Given the description of an element on the screen output the (x, y) to click on. 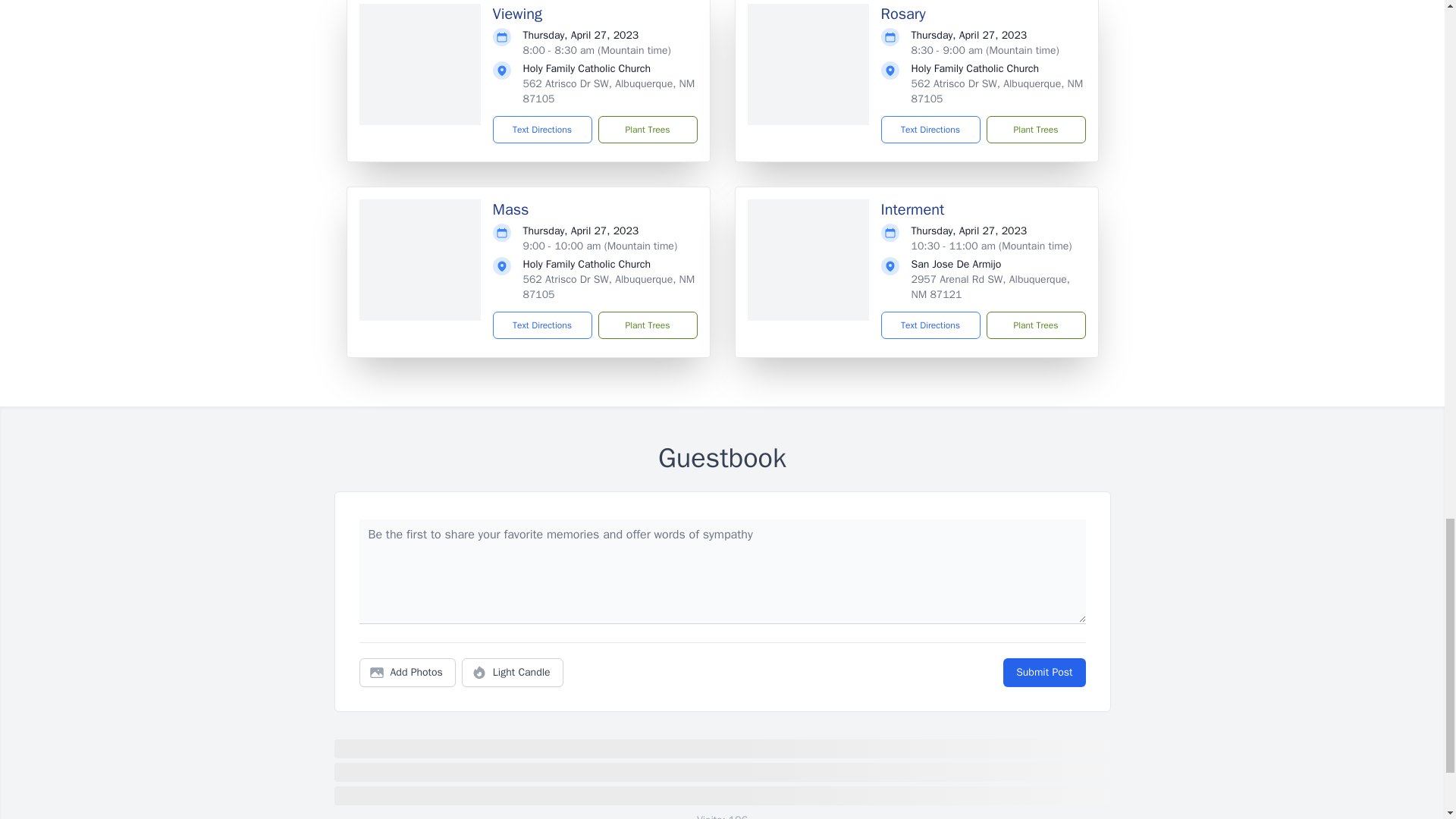
562 Atrisco Dr SW, Albuquerque, NM 87105 (608, 90)
2957 Arenal Rd SW, Albuquerque, NM 87121 (990, 286)
562 Atrisco Dr SW, Albuquerque, NM 87105 (608, 286)
Text Directions (542, 325)
562 Atrisco Dr SW, Albuquerque, NM 87105 (997, 90)
Plant Trees (1034, 129)
Text Directions (929, 129)
Plant Trees (646, 325)
Plant Trees (646, 129)
Plant Trees (1034, 325)
